Given the description of an element on the screen output the (x, y) to click on. 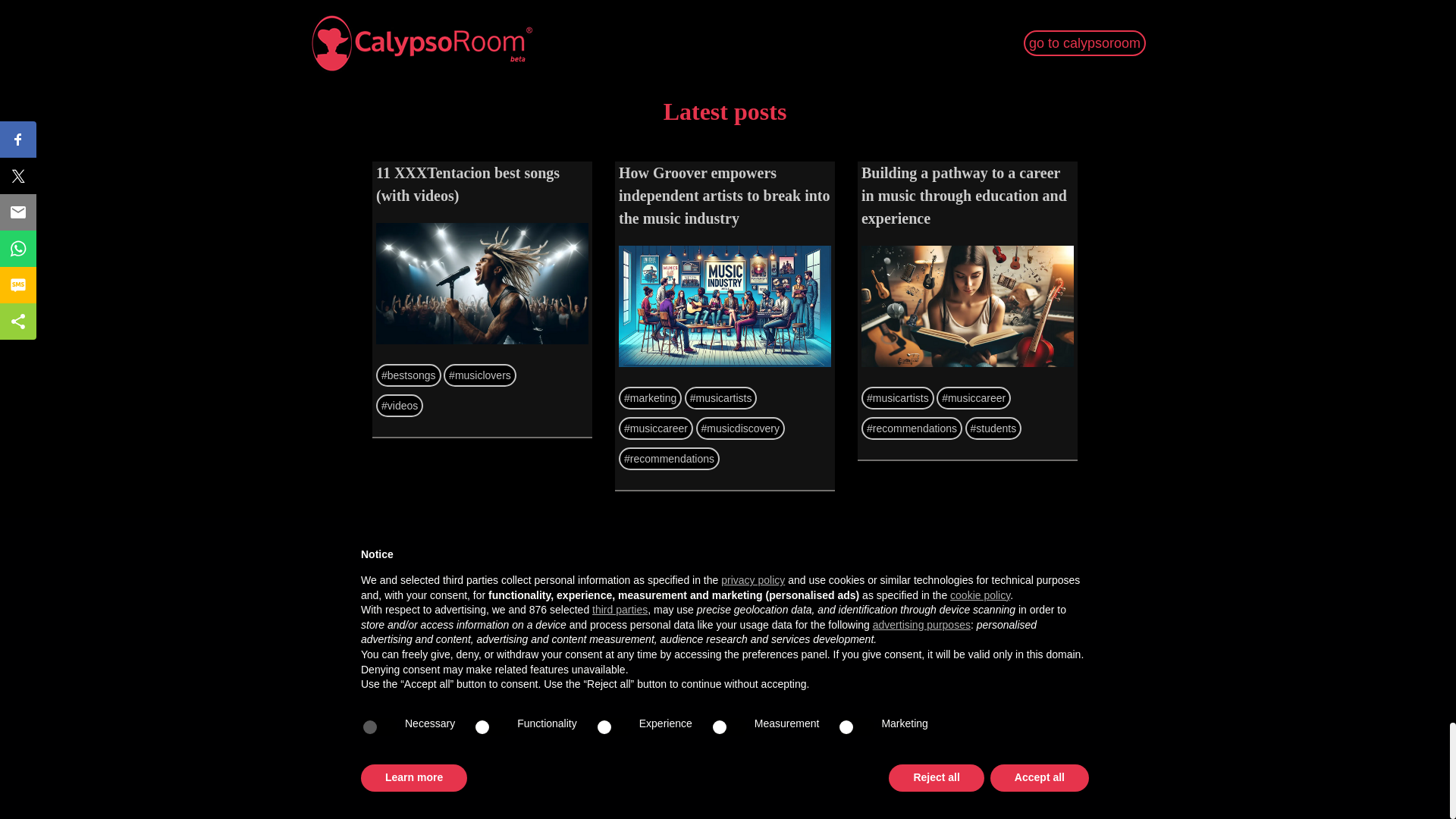
Privacy Policy (550, 649)
2 (526, 13)
Login (748, 696)
About Us (756, 649)
Submit Music (766, 728)
Terms of Service (555, 633)
Cookie Policy  (549, 665)
How it works (764, 665)
FAQs (748, 681)
Privacy Policy  (550, 649)
Blog (746, 633)
Privacy Policy (680, 15)
Cookie Policy (549, 665)
